Given the description of an element on the screen output the (x, y) to click on. 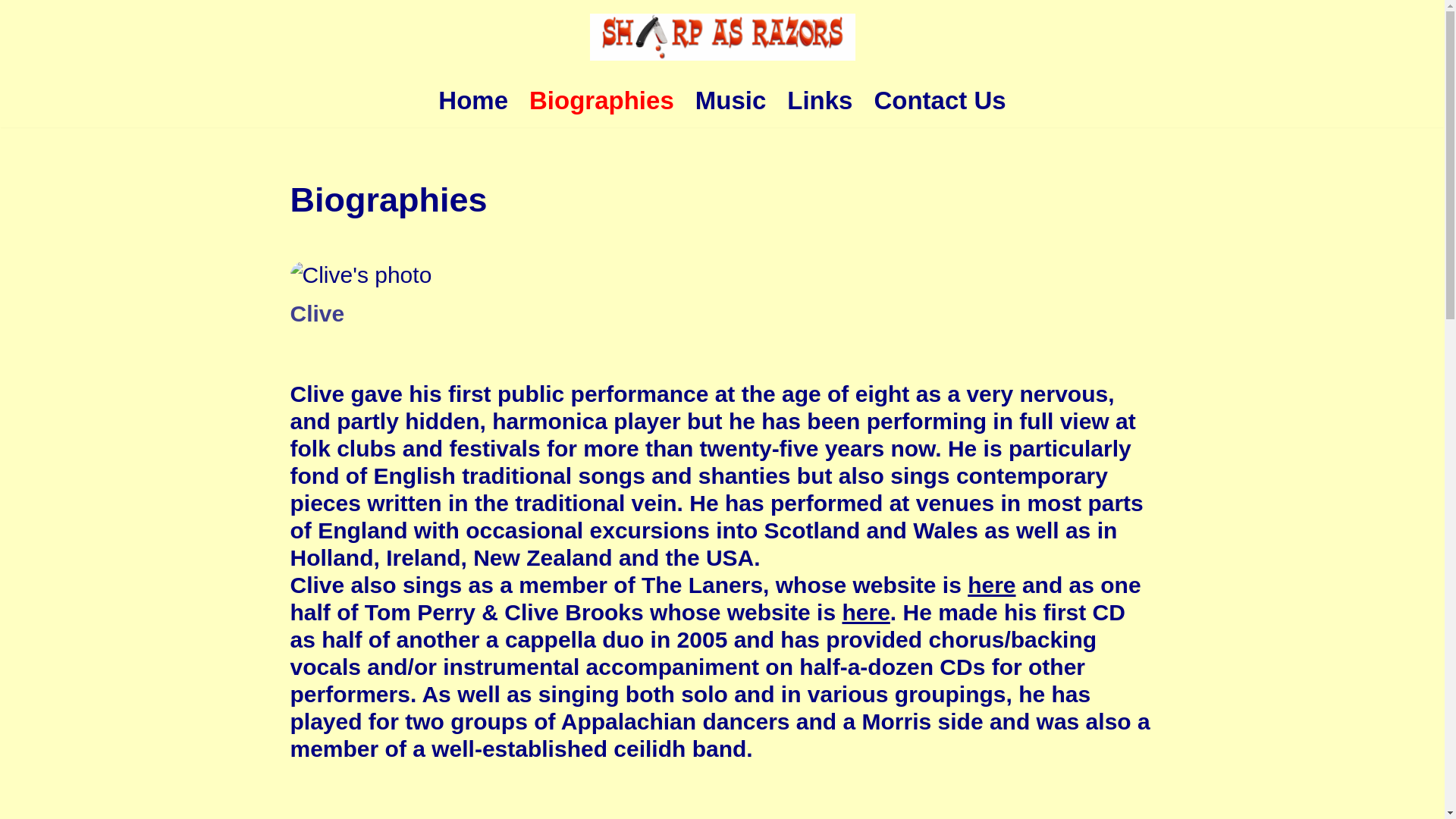
Contact Us (939, 100)
here (865, 611)
Biographies (601, 100)
Skip to content (11, 31)
Home (473, 100)
here (991, 584)
Links (819, 100)
Music (731, 100)
